Given the description of an element on the screen output the (x, y) to click on. 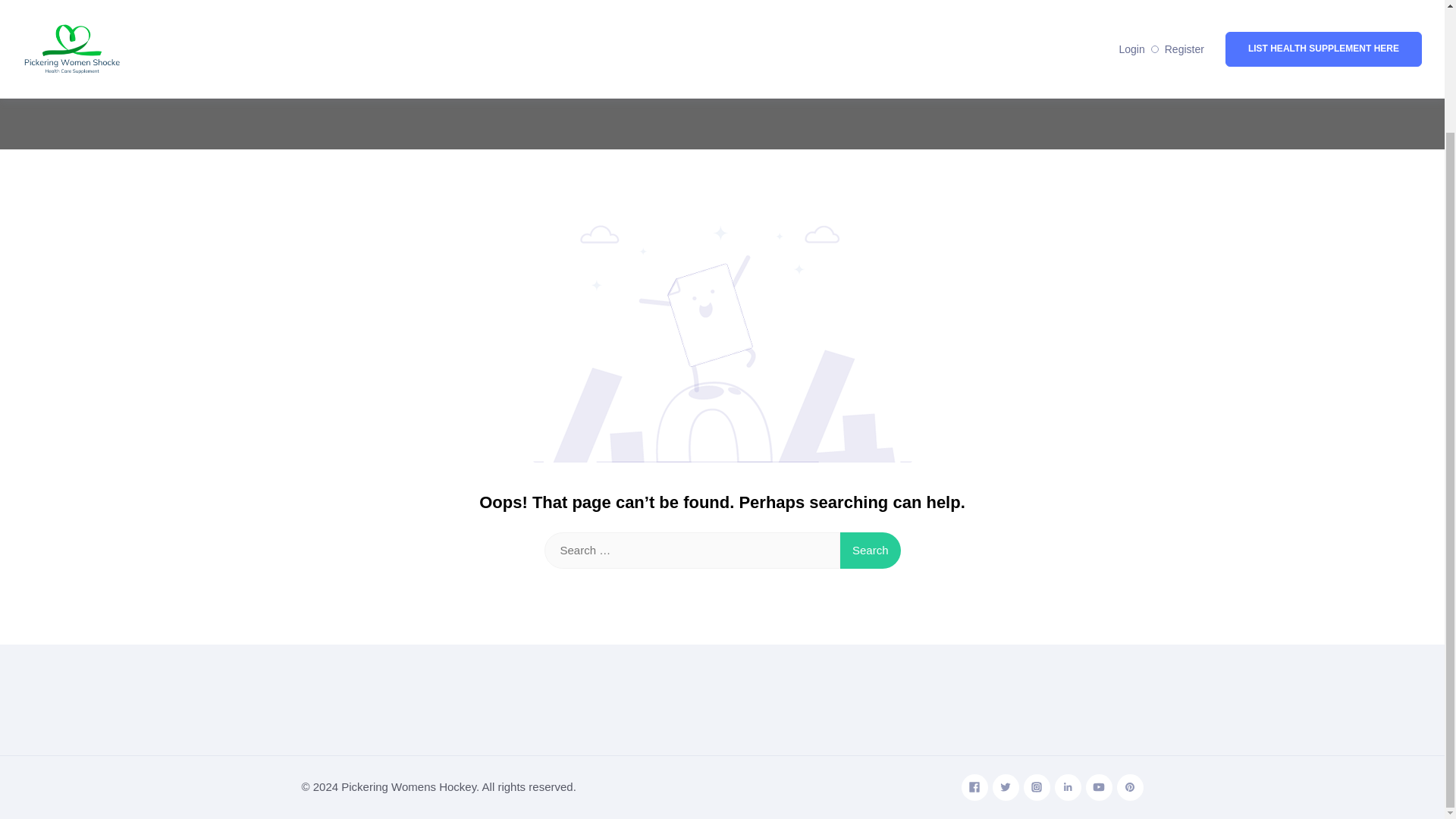
Search (870, 550)
Search (870, 550)
Search (870, 550)
